Given the description of an element on the screen output the (x, y) to click on. 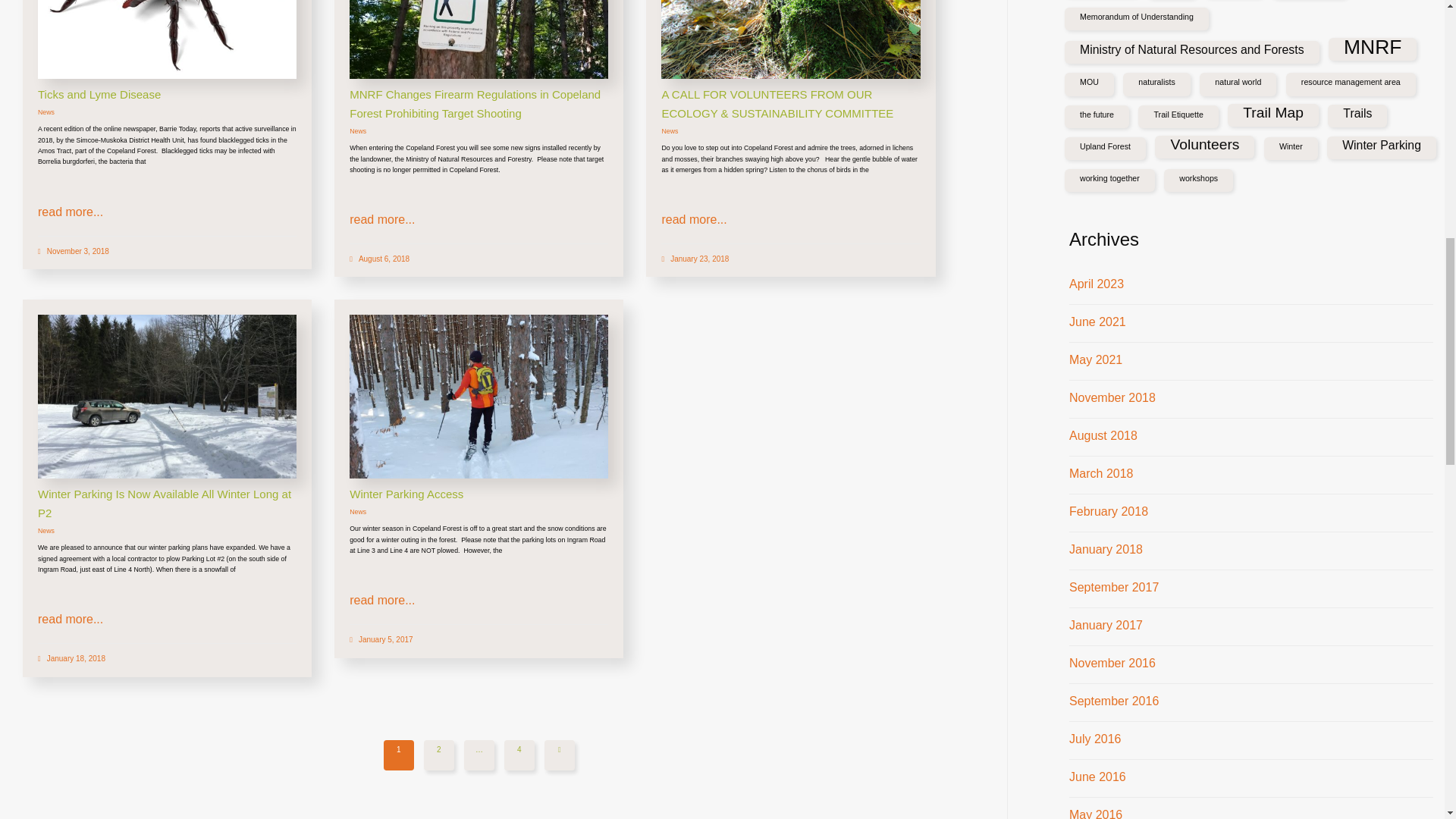
Winter Parking Is Now Available All Winter Long at P2 (167, 395)
read more... (70, 211)
News (46, 112)
Ticks and Lyme Disease (98, 93)
Winter Parking   Access (478, 395)
